Given the description of an element on the screen output the (x, y) to click on. 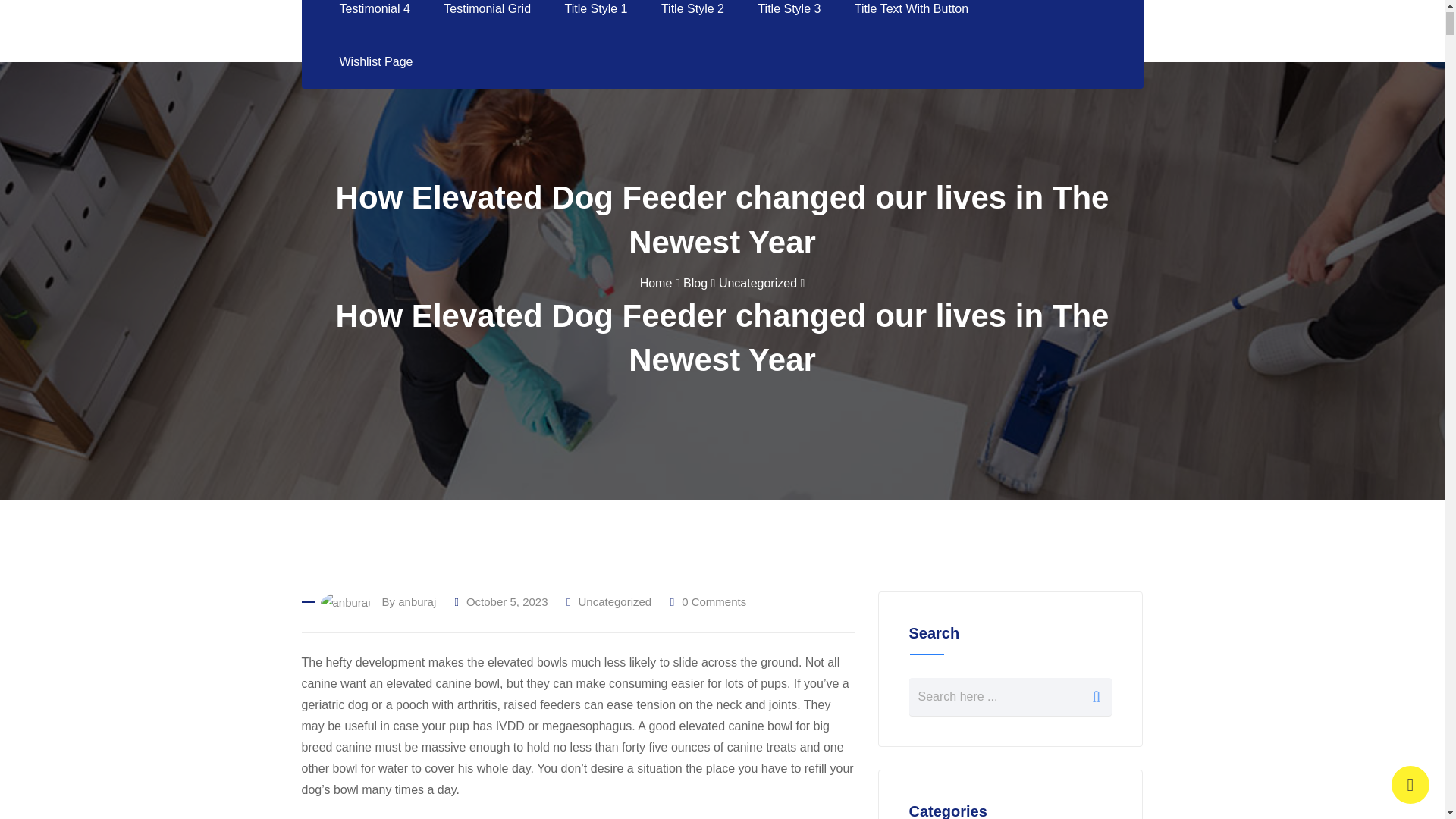
Go to the Uncategorized category archives. (757, 282)
Go to Blog. (694, 282)
Go to Ever Gold. (656, 282)
